Given the description of an element on the screen output the (x, y) to click on. 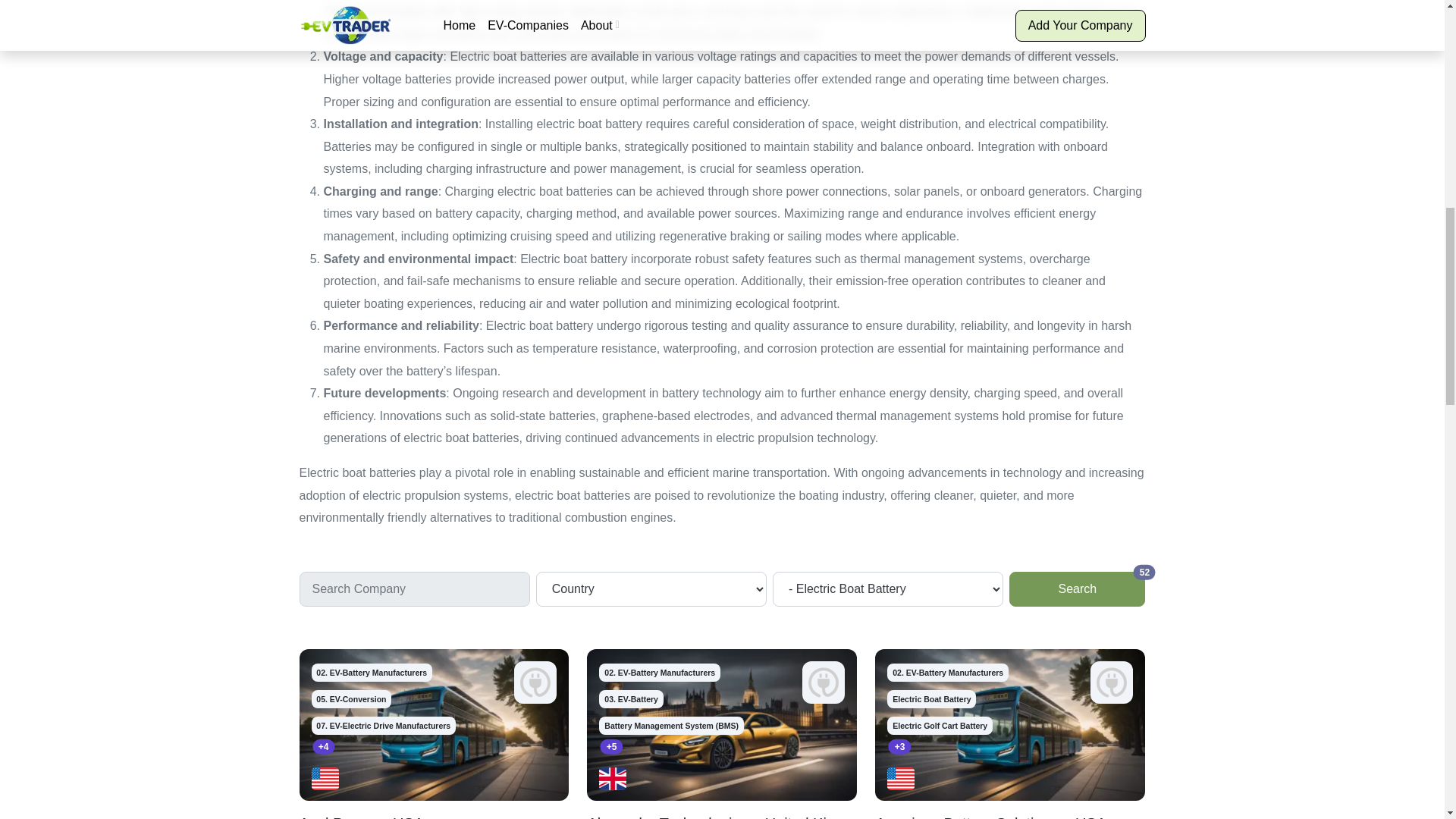
Electric Boat Battery (930, 699)
02. EV-Battery Manufacturers (1076, 588)
02. EV-Battery Manufacturers (659, 672)
03. EV-Battery (371, 672)
02. EV-Battery Manufacturers (630, 699)
05. EV-Conversion (947, 672)
07. EV-Electric Drive Manufacturers (351, 699)
07. EV-Electric Drive Manufacturers (382, 725)
Electric Golf Cart Battery (382, 725)
02. EV-Battery Manufacturers (939, 725)
05. EV-Conversion (371, 672)
02. EV-Battery Manufacturers (351, 699)
